Given the description of an element on the screen output the (x, y) to click on. 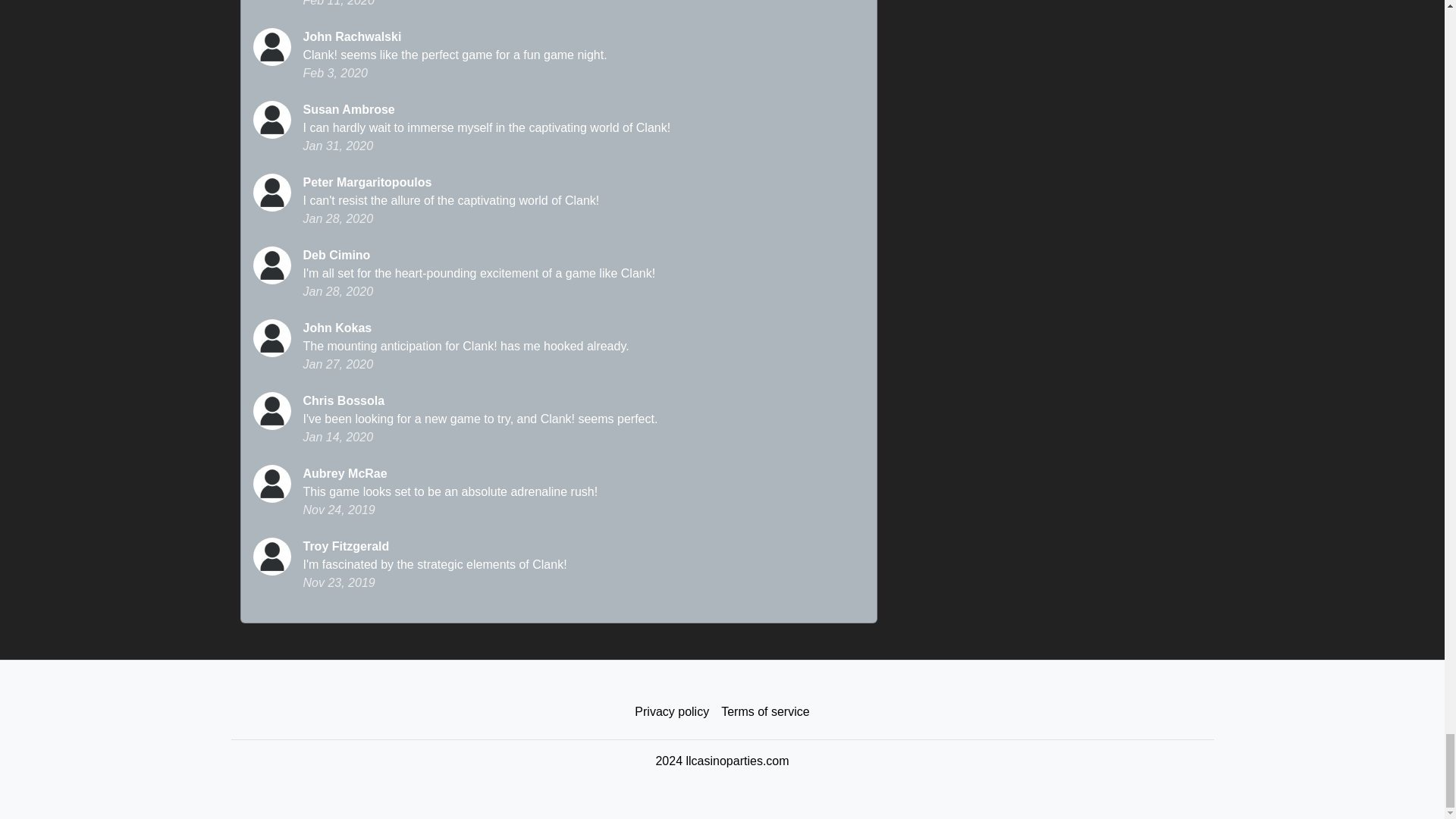
Terms of service (764, 711)
Privacy policy (671, 711)
